Given the description of an element on the screen output the (x, y) to click on. 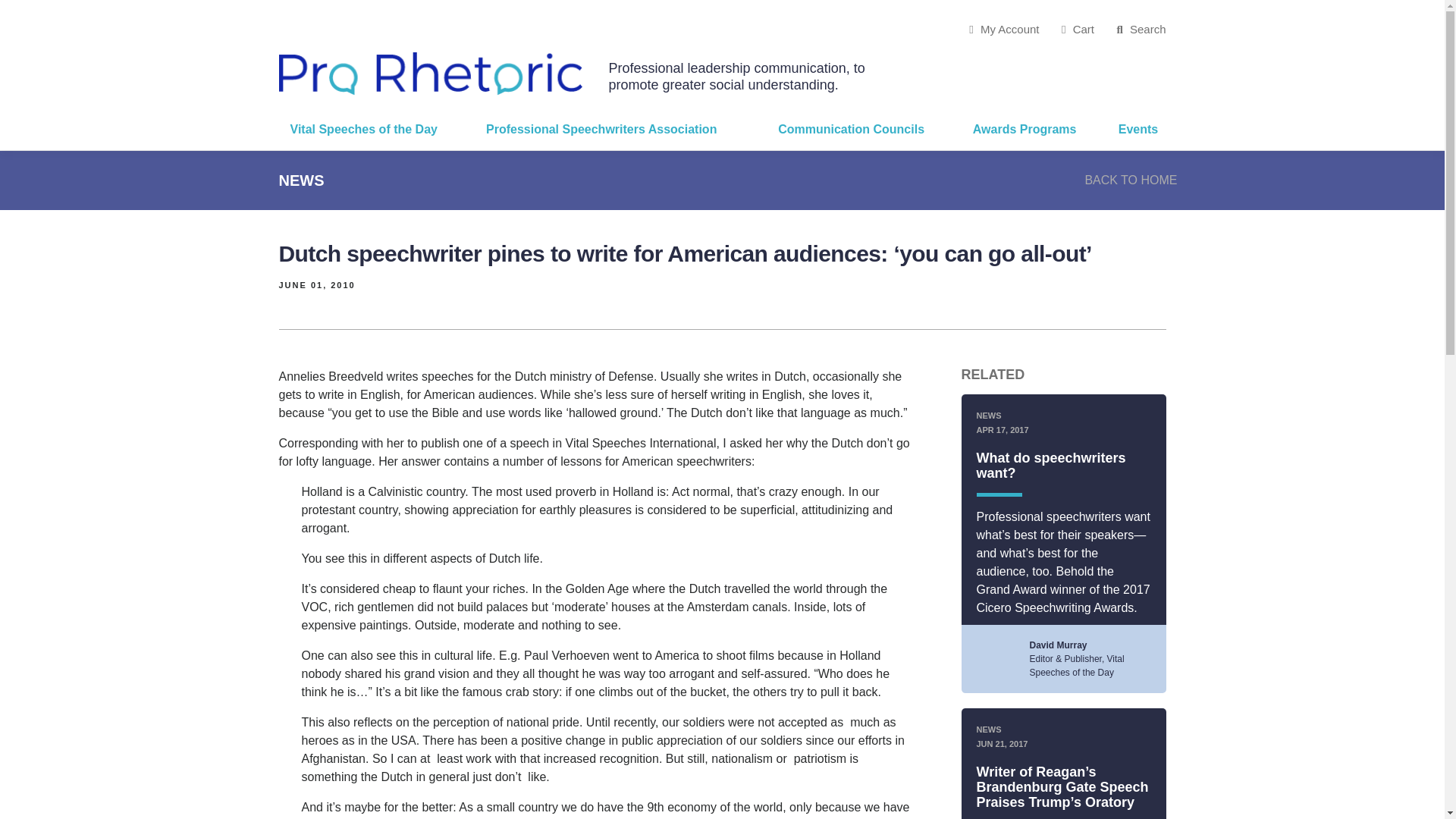
Professional Speechwriters Association (620, 128)
Awards Programs (1033, 128)
Events (1136, 128)
NEWS (988, 728)
BACK TO HOME (1130, 180)
Vital Speeches of the Day (377, 128)
NEWS (301, 179)
What do speechwriters want? (1050, 465)
NEWS (988, 415)
Communication Councils (863, 128)
